Given the description of an element on the screen output the (x, y) to click on. 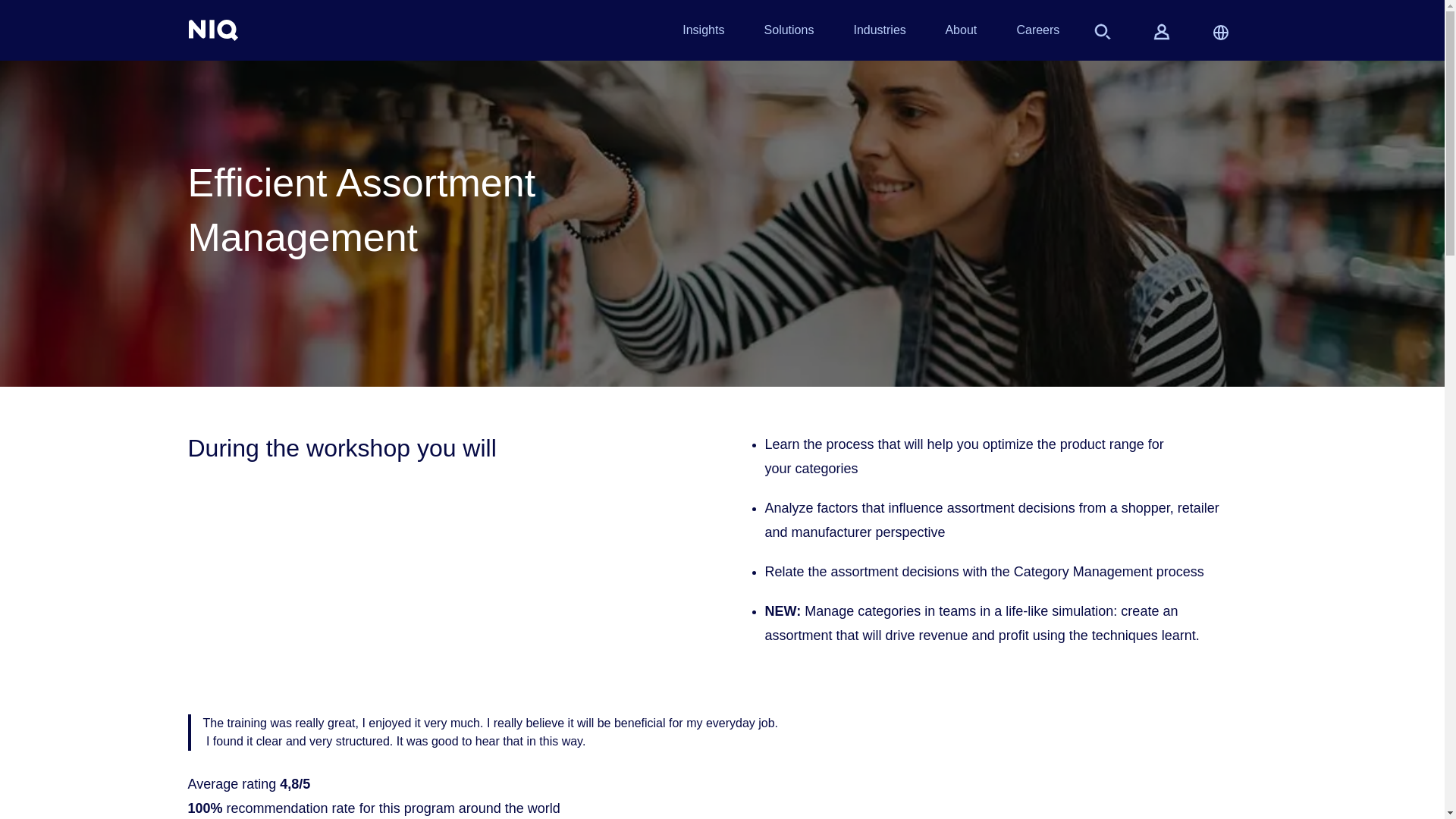
Insights (703, 33)
Solutions (788, 33)
Solutions (788, 33)
Industries (878, 33)
Insights (703, 33)
